Given the description of an element on the screen output the (x, y) to click on. 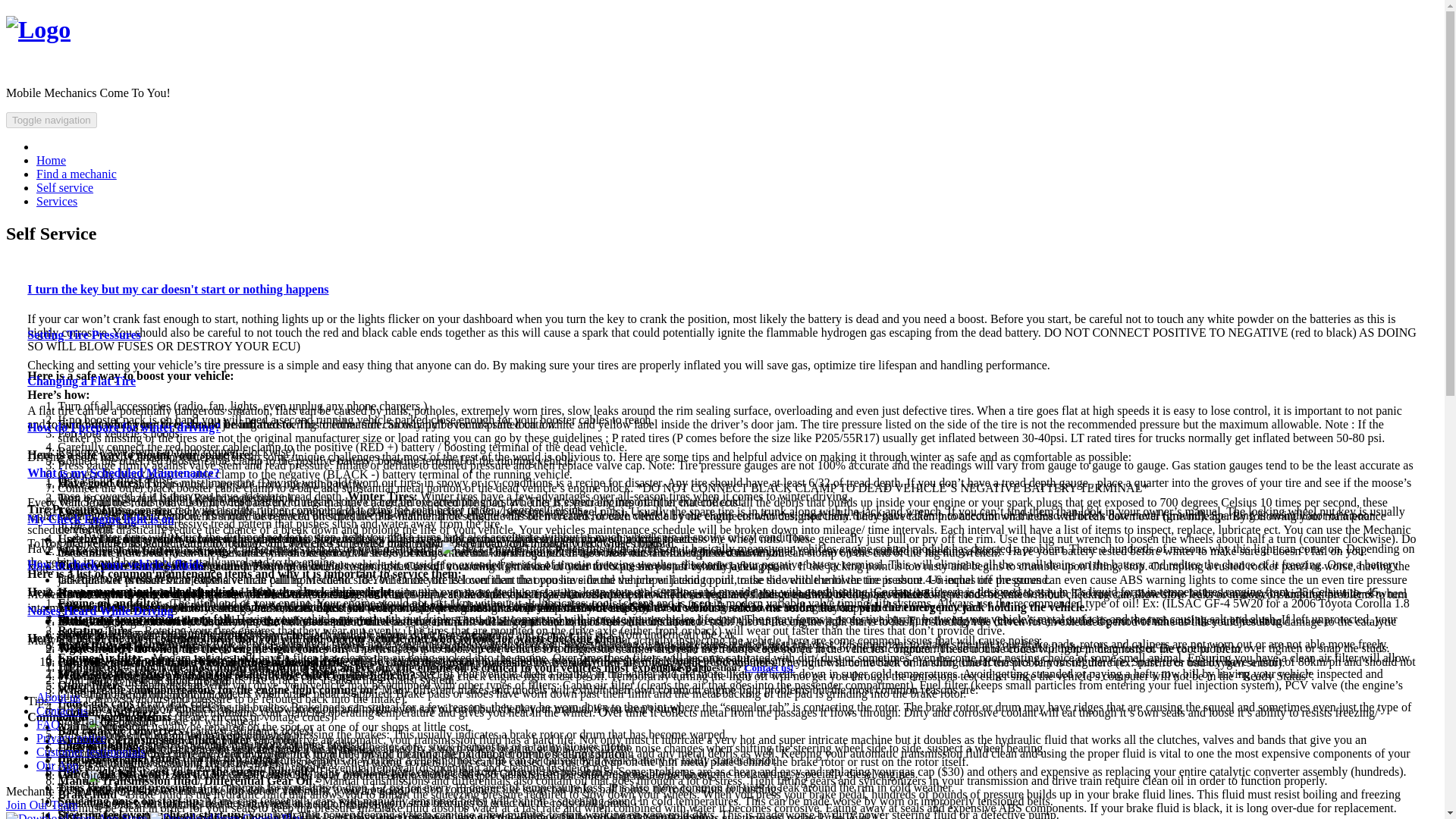
Join Our Team (41, 804)
My Check Engine light is on (100, 518)
Noises Heard While Driving (100, 610)
Our App (57, 765)
Contact us (61, 710)
How do I prepare for winter driving? (124, 427)
Contact us! (768, 667)
Changing a Flat Tire (81, 380)
FAQ (47, 724)
Self service (64, 187)
